Given the description of an element on the screen output the (x, y) to click on. 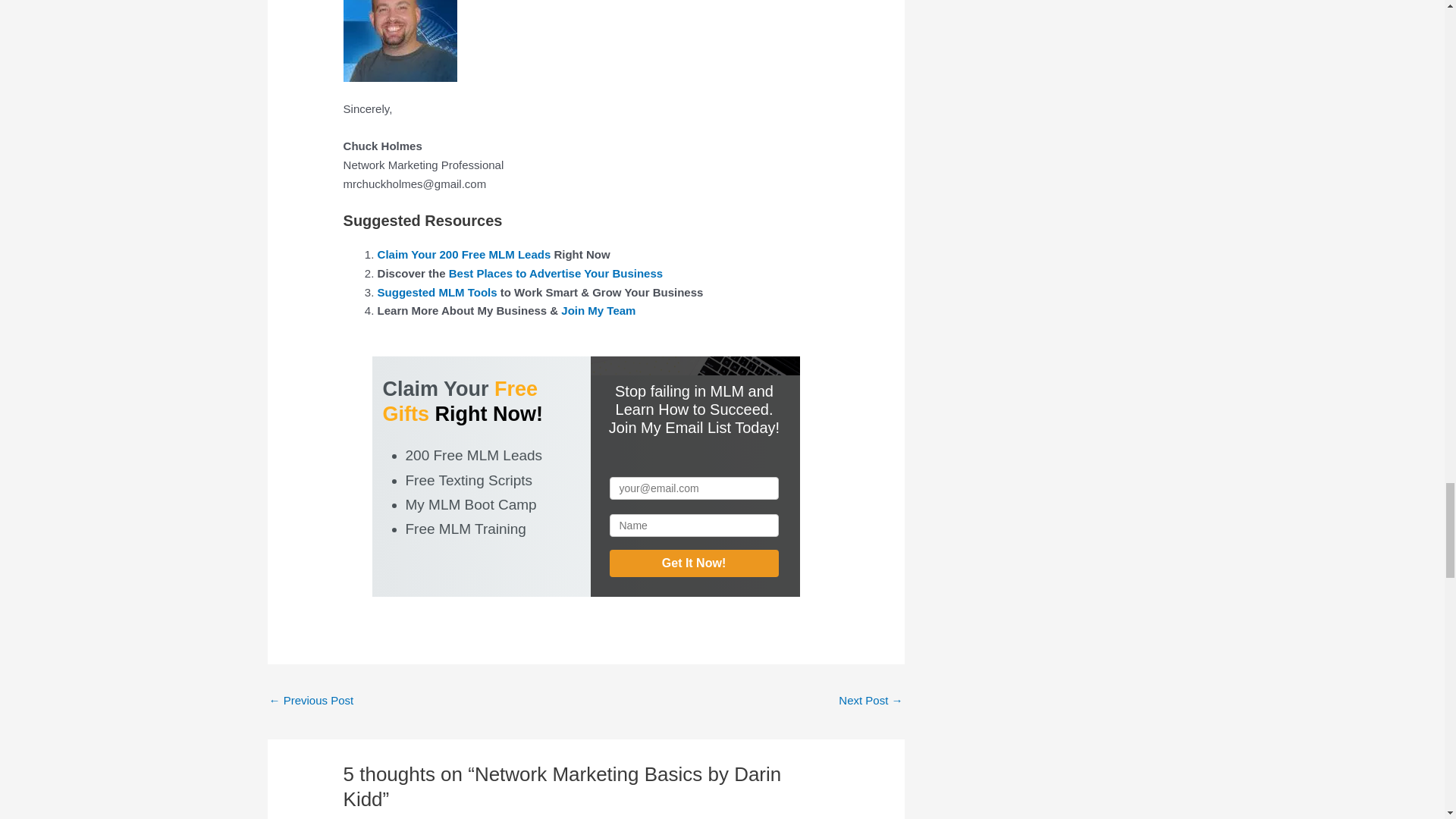
Top 10 MLM Companies in the Czech Republic (310, 701)
